Given the description of an element on the screen output the (x, y) to click on. 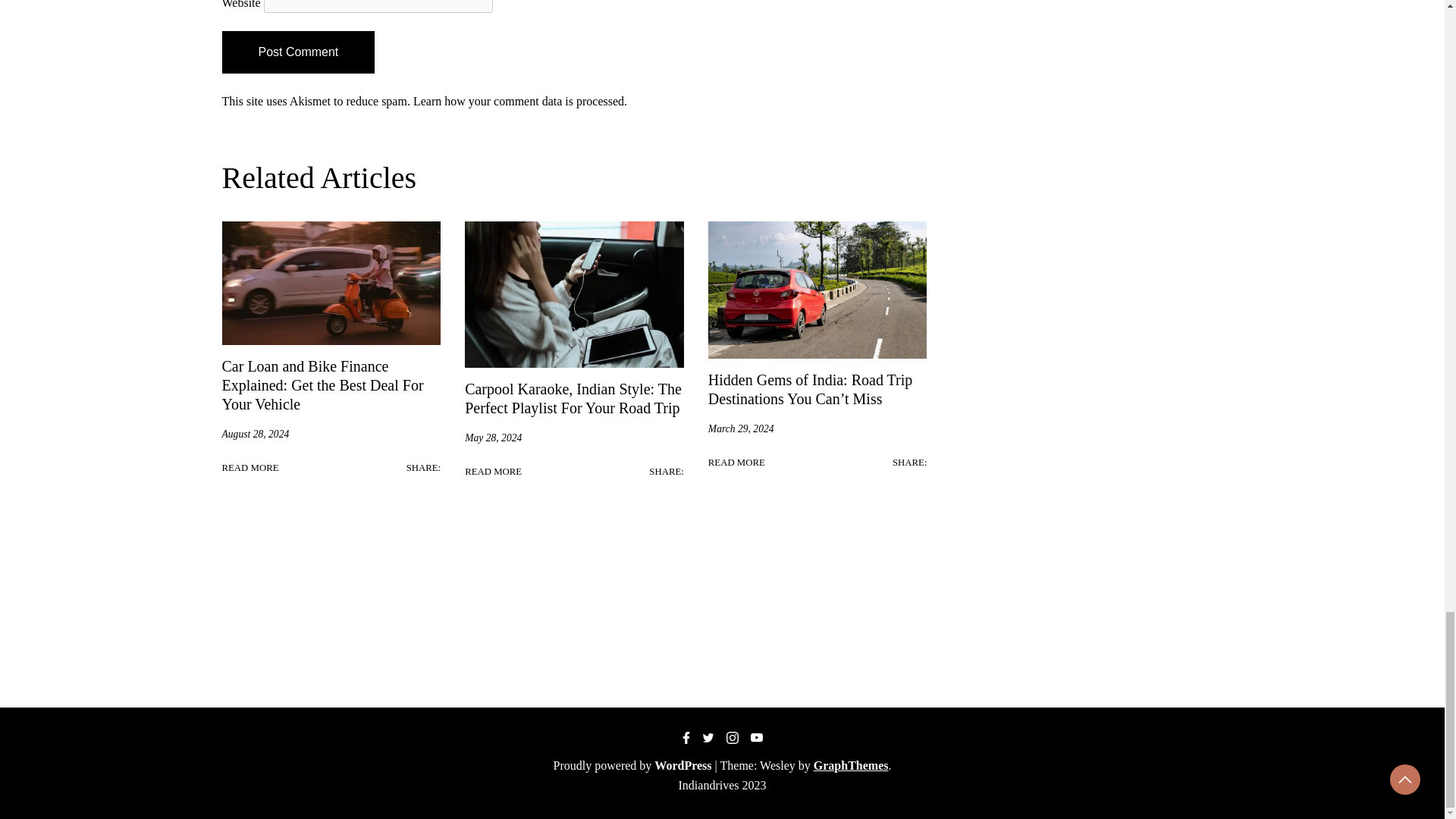
May 28, 2024 (492, 437)
READ MORE (249, 467)
Post Comment (297, 52)
August 28, 2024 (254, 433)
March 29, 2024 (740, 428)
READ MORE (492, 471)
Post Comment (297, 52)
Learn how your comment data is processed (518, 101)
